Given the description of an element on the screen output the (x, y) to click on. 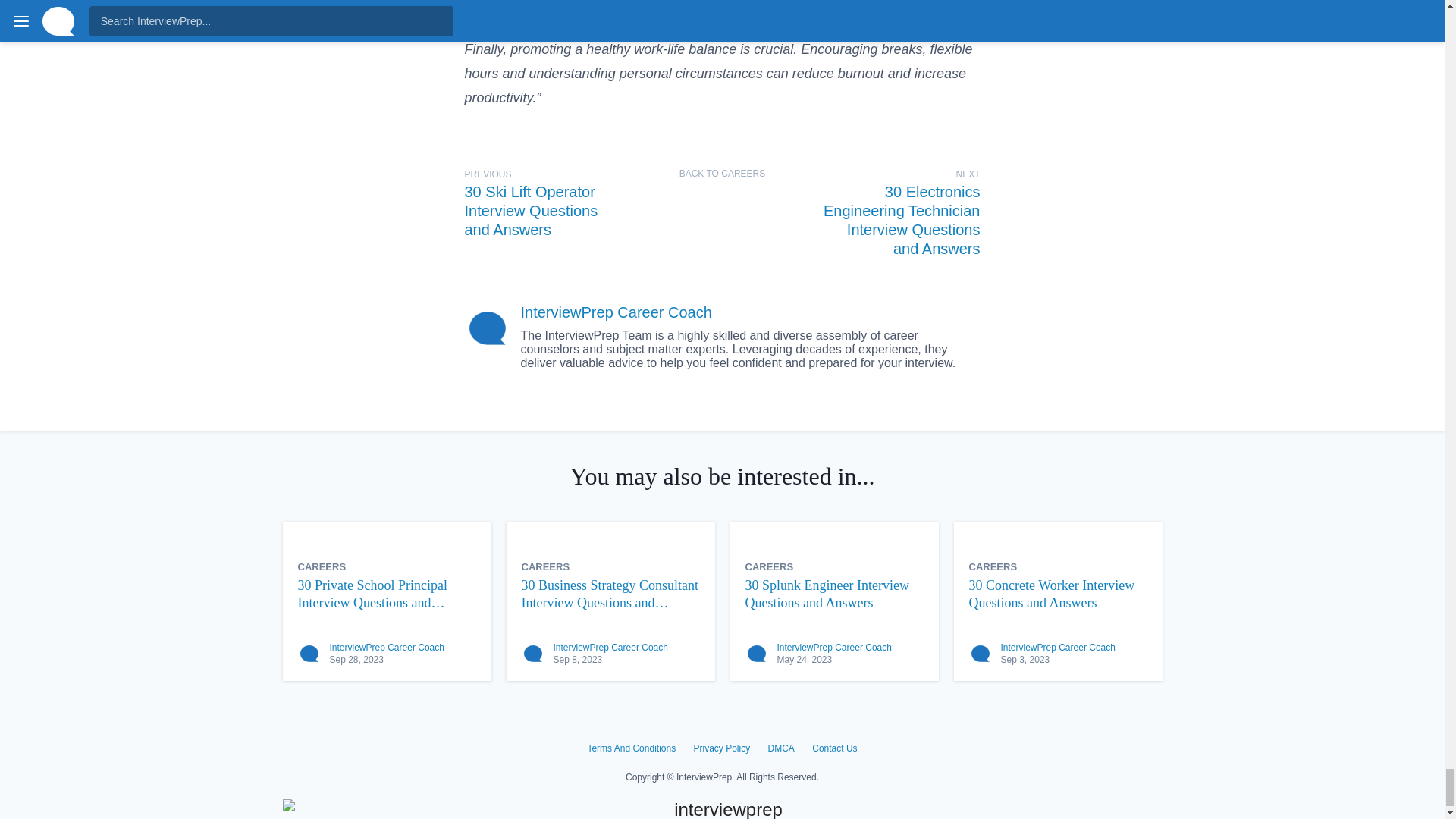
CAREERS (321, 566)
InterviewPrep Career Coach (615, 312)
Privacy Policy (721, 747)
CAREERS (993, 566)
Contact Us (834, 747)
30 Private School Principal Interview Questions and Answers (386, 593)
InterviewPrep Career Coach (386, 647)
DMCA (781, 747)
Terms And Conditions (630, 747)
InterviewPrep Career Coach (610, 647)
30 Concrete Worker Interview Questions and Answers (1058, 593)
CAREERS (768, 566)
CAREERS (545, 566)
